Given the description of an element on the screen output the (x, y) to click on. 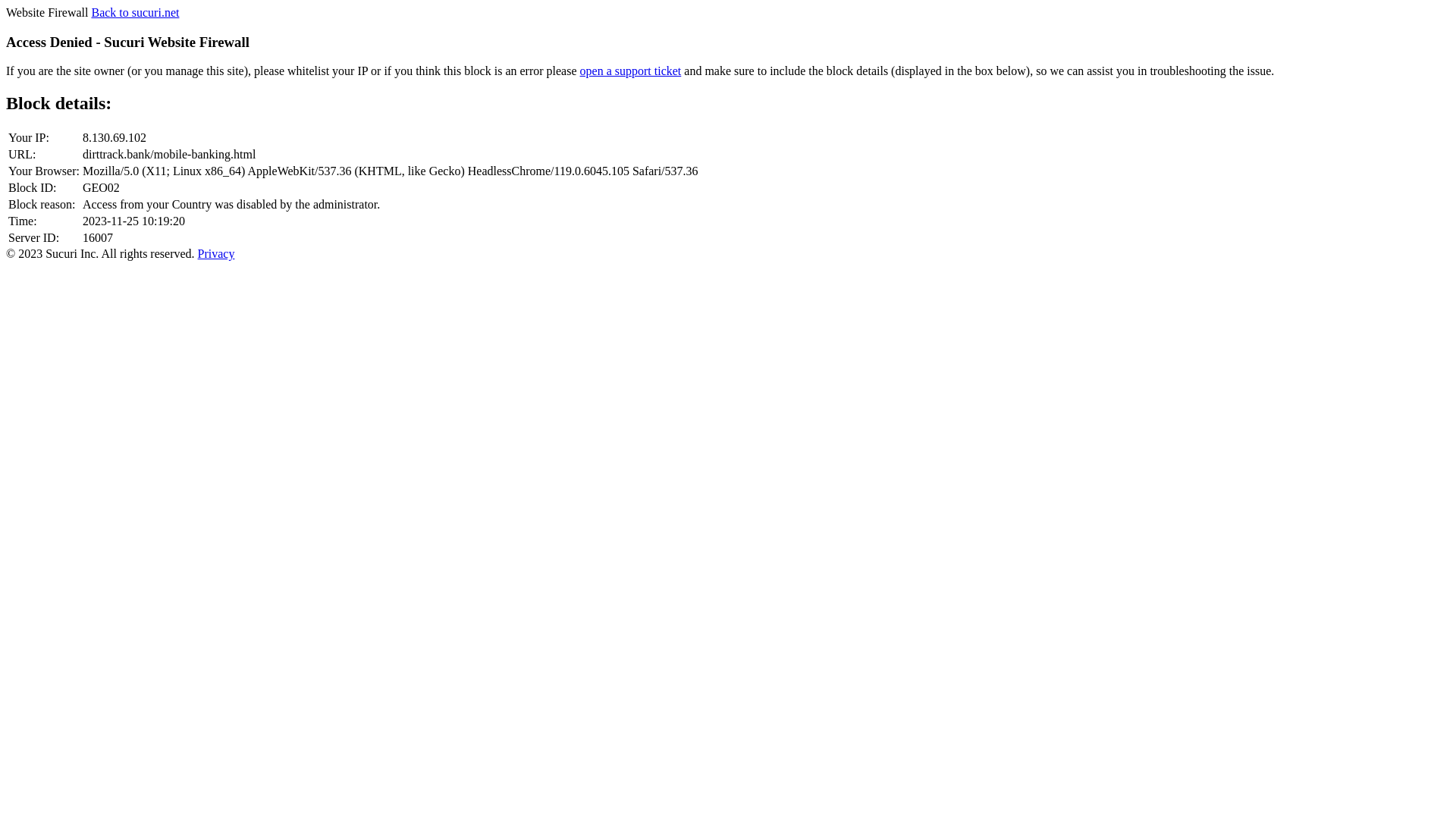
Privacy Element type: text (216, 253)
open a support ticket Element type: text (630, 70)
Back to sucuri.net Element type: text (134, 12)
